Given the description of an element on the screen output the (x, y) to click on. 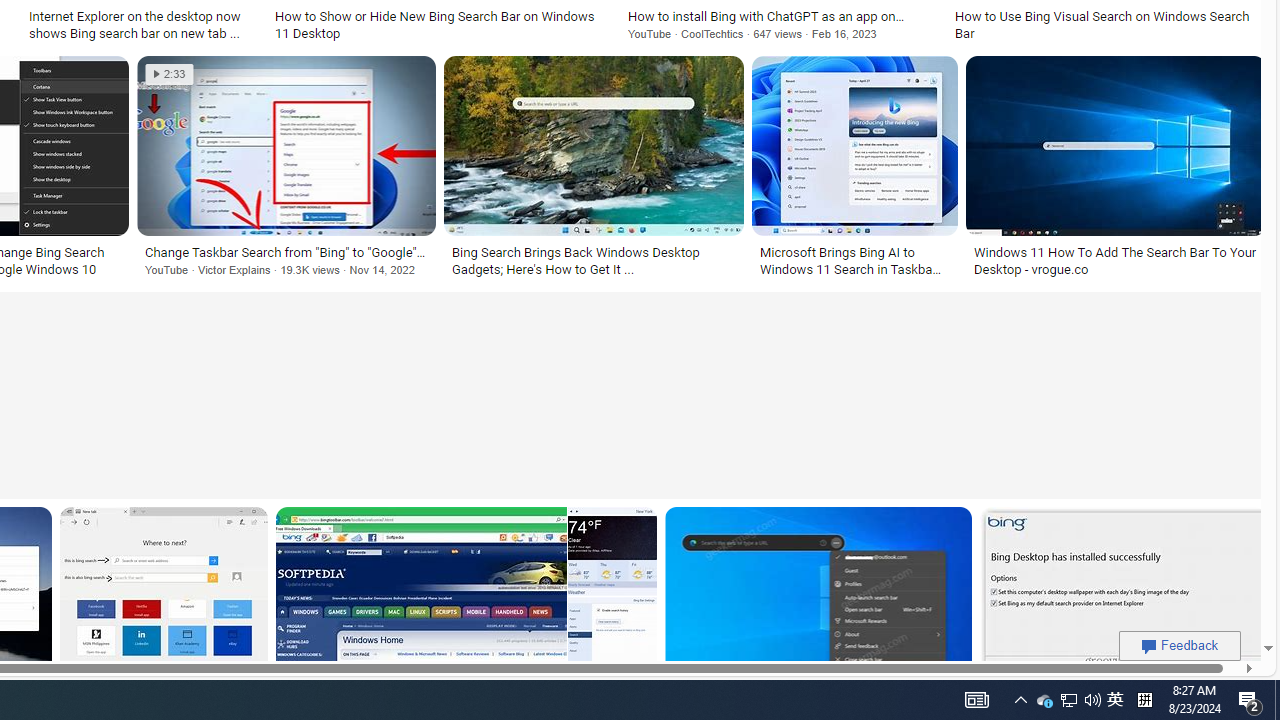
How to install Bing with ChatGPT as an app on Windows 11 (779, 16)
Image result for Bing Search Bar Install (1122, 596)
